Given the description of an element on the screen output the (x, y) to click on. 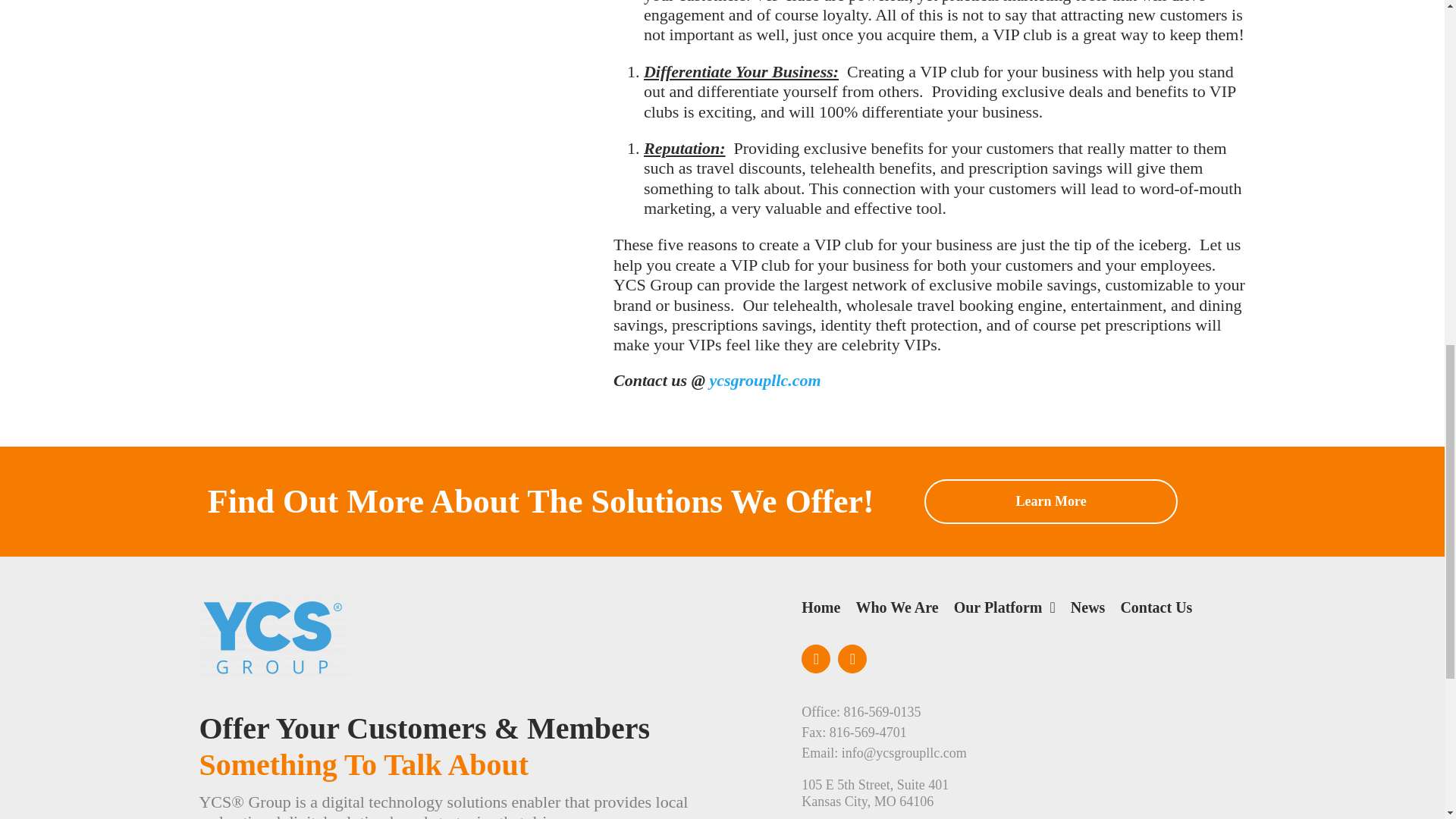
Our Platform (1004, 613)
Contact Us (1155, 613)
News (1087, 613)
Learn More (1050, 501)
Home (821, 613)
Who We Are (896, 613)
ycsgroupllc.com (765, 380)
